Given the description of an element on the screen output the (x, y) to click on. 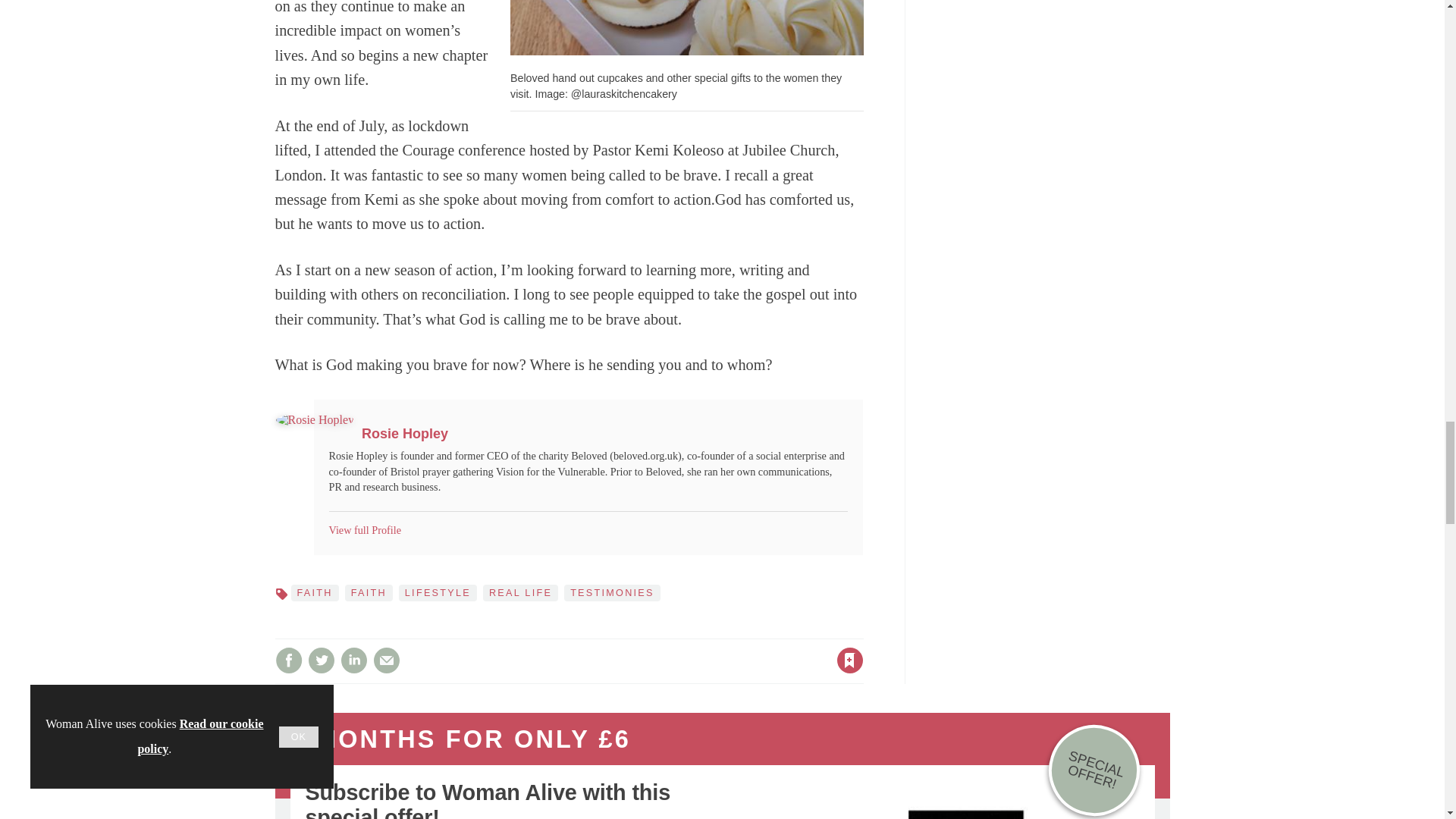
Email this article (386, 660)
Share this on Twitter (320, 660)
Share this on Facebook (288, 660)
Share this on Linked in (352, 660)
